Given the description of an element on the screen output the (x, y) to click on. 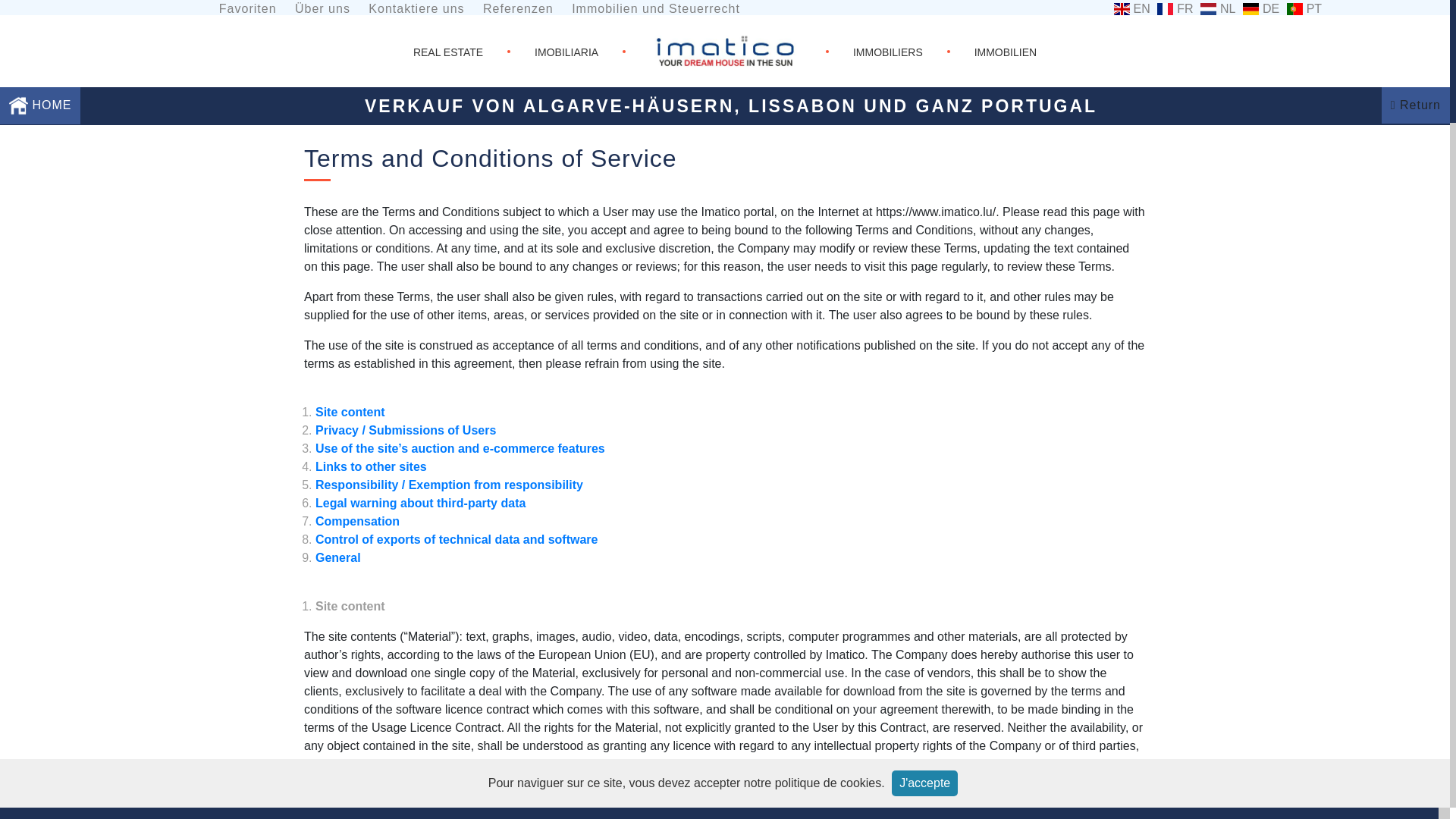
IMOBILIARIA (566, 52)
Return (1415, 104)
IMMOBILIEN (1005, 52)
EN (1129, 8)
Links to other sites (370, 466)
Referenzen (518, 12)
Kontaktiere uns (416, 12)
PT (1302, 8)
REAL ESTATE (448, 52)
IMMOBILIERS (888, 52)
FR (1172, 8)
DE (1259, 8)
 HOME (39, 104)
HOME (17, 105)
Site content (350, 411)
